Given the description of an element on the screen output the (x, y) to click on. 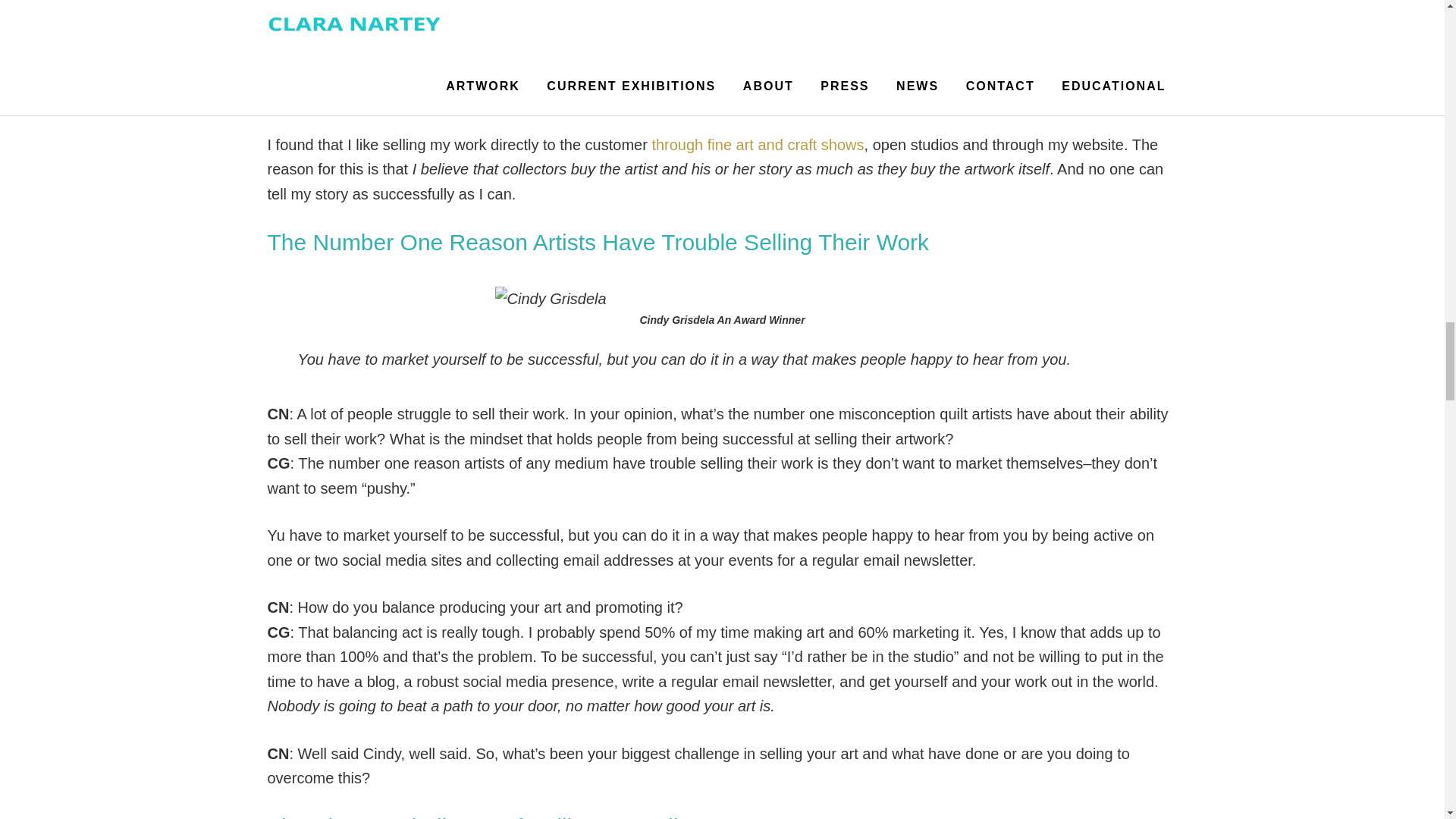
through fine art and craft shows (756, 144)
